Given the description of an element on the screen output the (x, y) to click on. 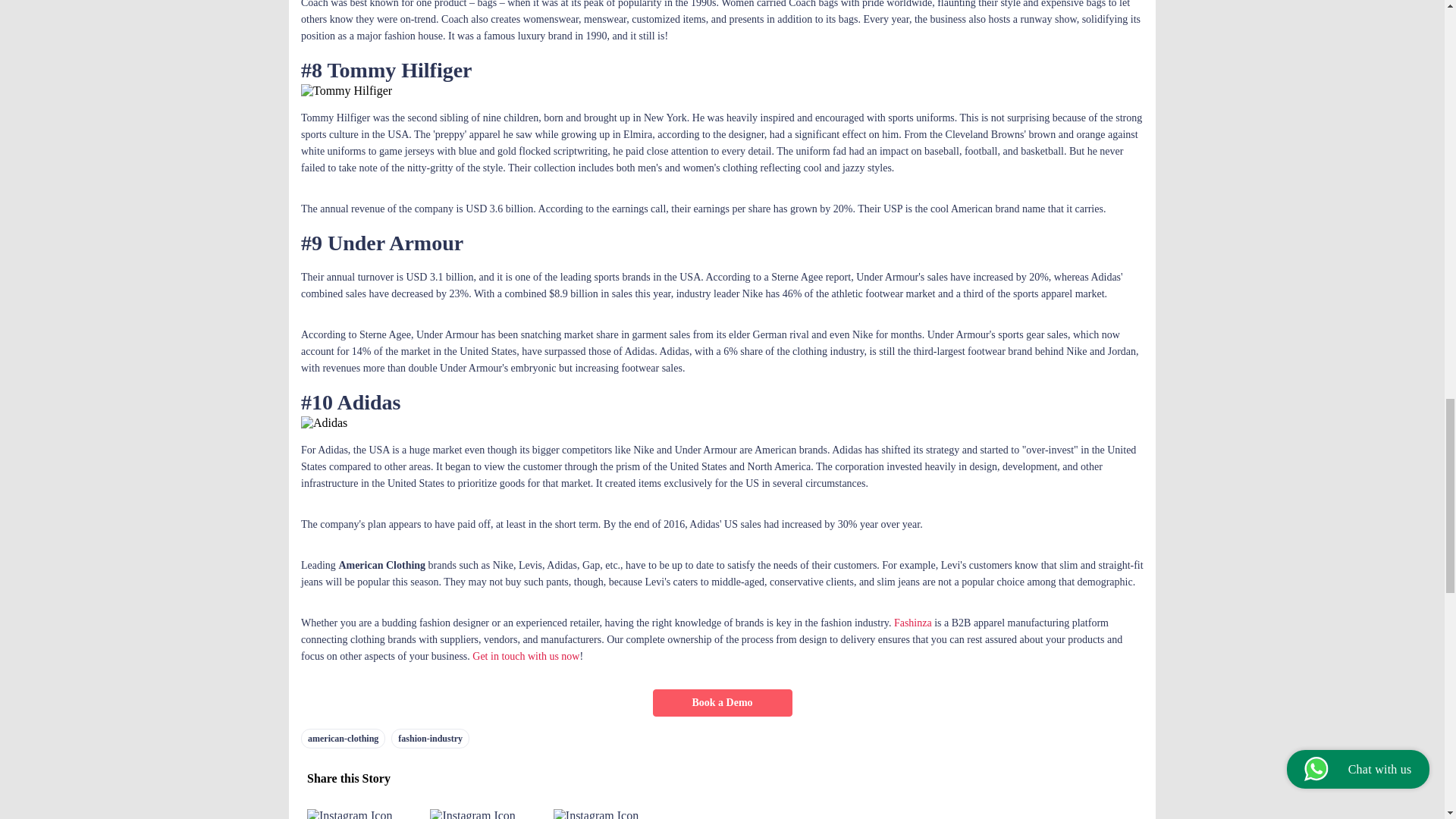
Book a Demo (722, 702)
Get in touch with us now (525, 655)
Fashinza (912, 622)
